Given the description of an element on the screen output the (x, y) to click on. 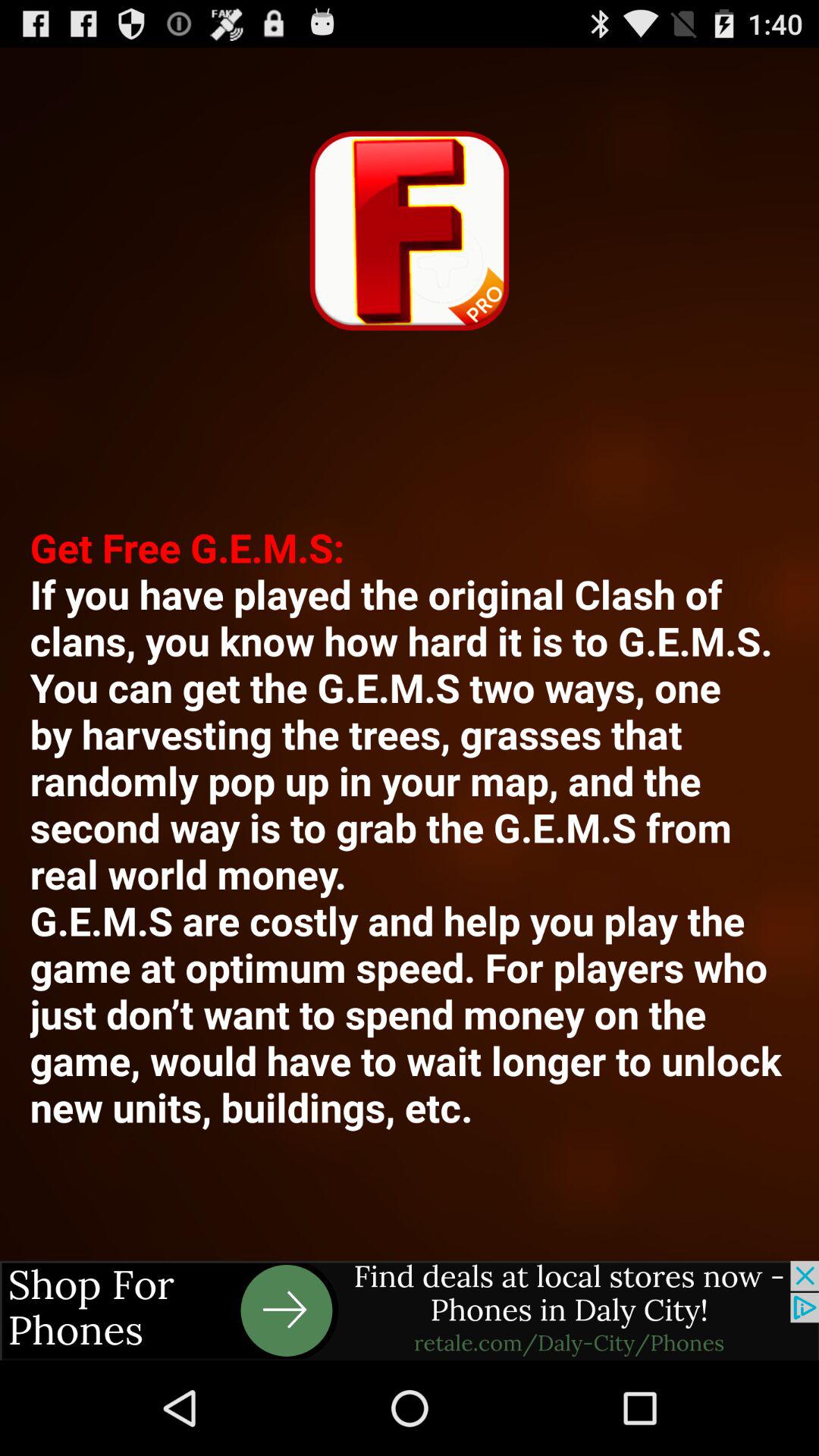
toggle advertisement (409, 1310)
